Given the description of an element on the screen output the (x, y) to click on. 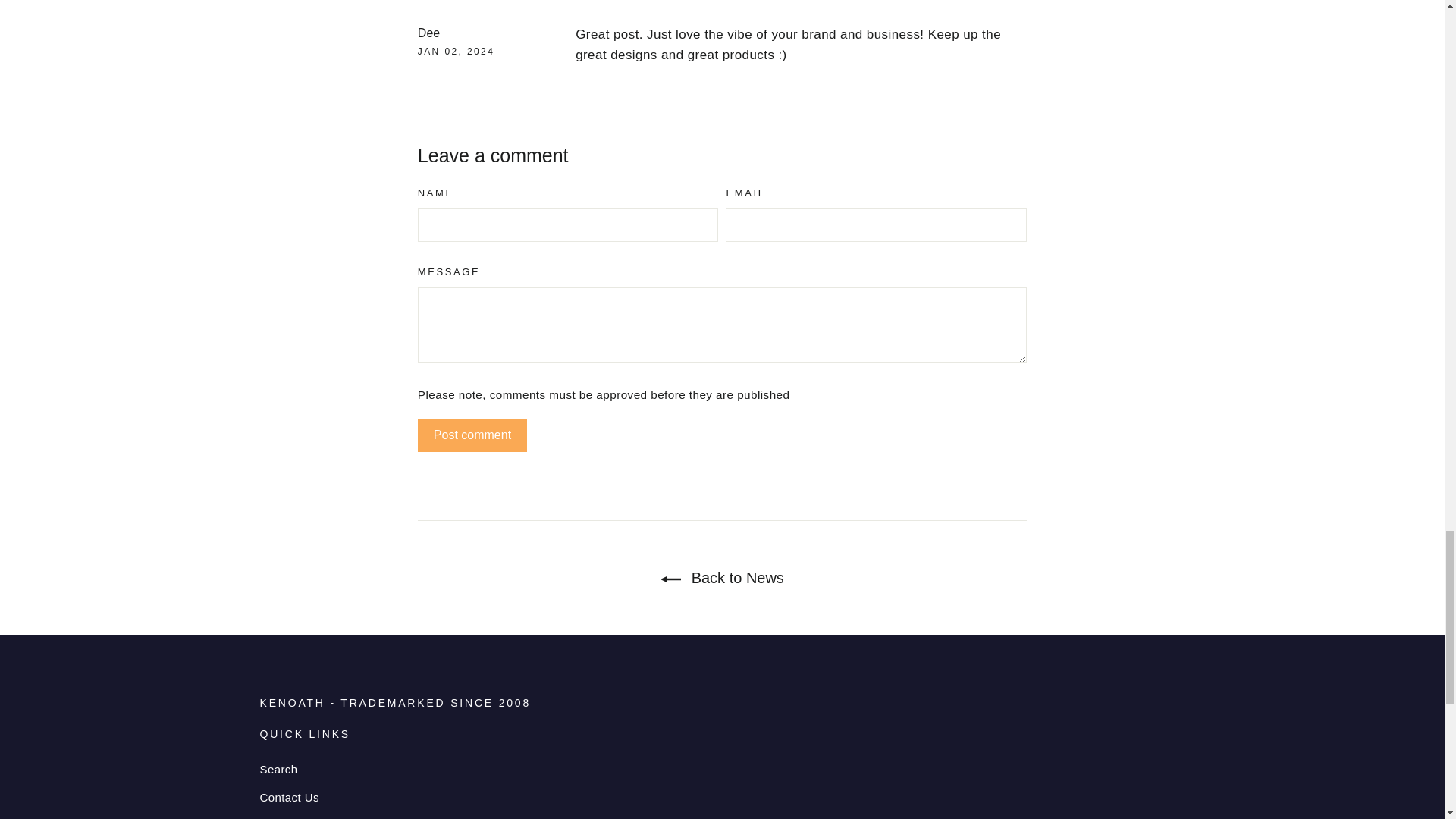
Post comment (472, 435)
